Given the description of an element on the screen output the (x, y) to click on. 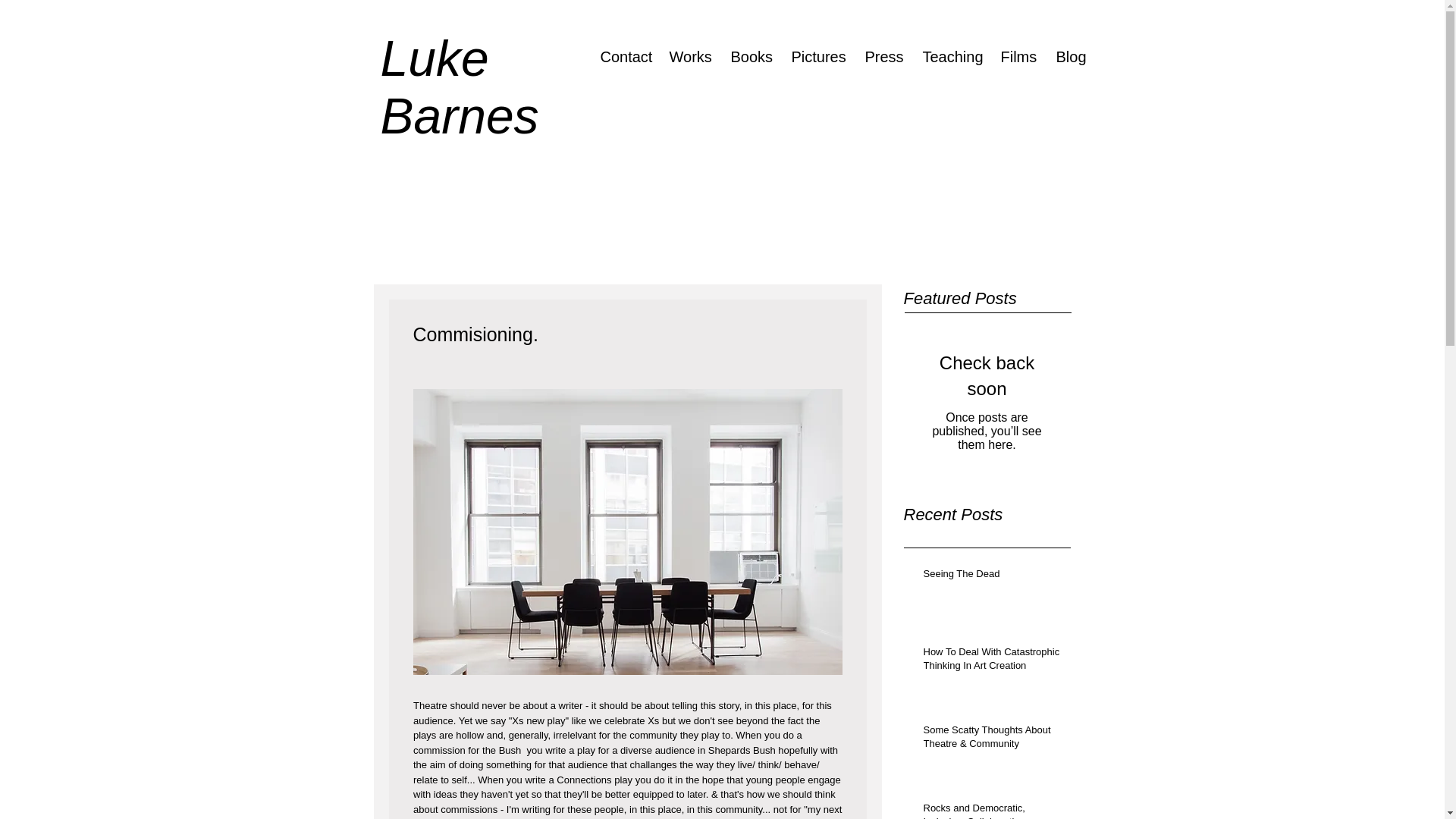
Books (748, 56)
Press (882, 56)
Contact (623, 56)
Blog (1069, 56)
How To Deal With Catastrophic Thinking In Art Creation (992, 661)
Teaching (950, 56)
Barnes  (466, 115)
Films (1015, 56)
Works (688, 56)
Pictures (815, 56)
Seeing The Dead (992, 577)
Luke (434, 58)
